Given the description of an element on the screen output the (x, y) to click on. 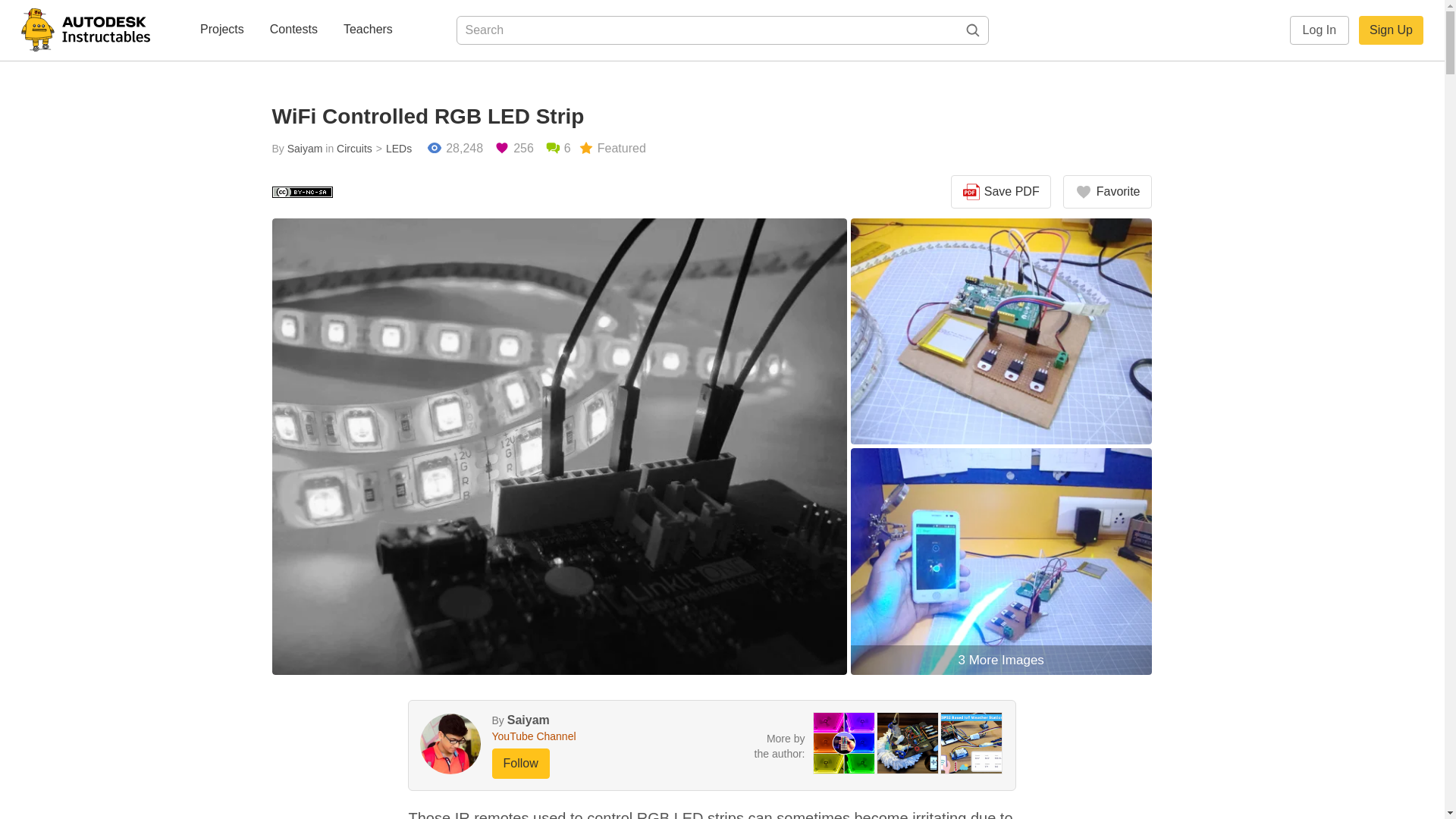
YouTube Channel (570, 736)
Log In (1319, 30)
Teachers (368, 30)
Saiyam (528, 719)
Sign Up (1390, 30)
Saiyam (304, 148)
6 (557, 148)
Projects (221, 30)
Save PDF (1000, 191)
Circuits (354, 148)
Favorite (1106, 191)
Follow (520, 763)
Contests (293, 30)
LEDs (392, 148)
More by the author: (779, 746)
